Given the description of an element on the screen output the (x, y) to click on. 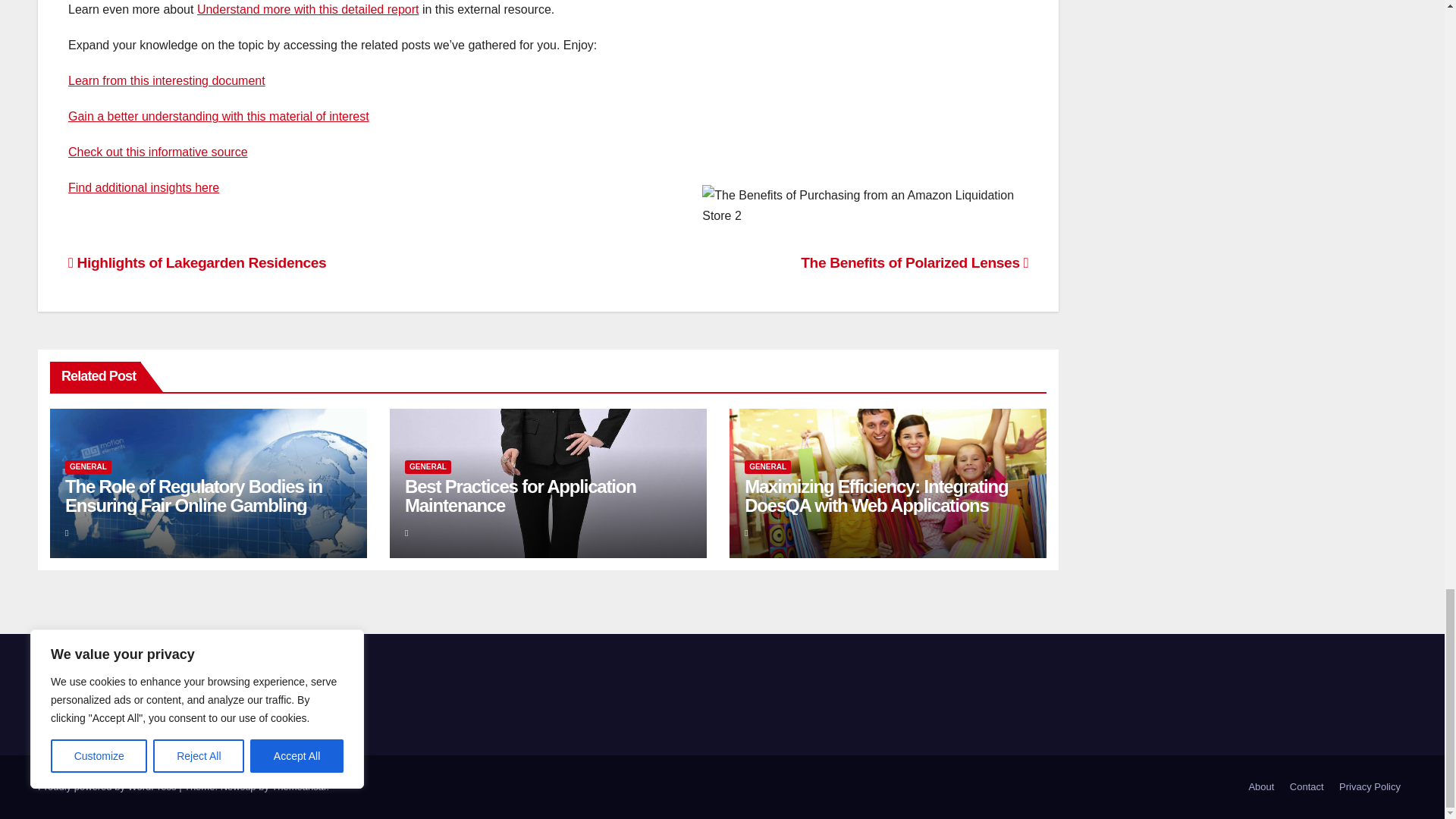
Understand more with this detailed report (307, 9)
Privacy Policy (1369, 786)
Permalink to: Best Practices for Application Maintenance (520, 495)
Check out this informative source (157, 151)
GENERAL (427, 467)
About (1260, 786)
Find additional insights here (143, 187)
The Benefits of Polarized Lenses (913, 262)
Highlights of Lakegarden Residences (197, 262)
Contact (1307, 786)
Learn from this interesting document (166, 80)
GENERAL (88, 467)
